Given the description of an element on the screen output the (x, y) to click on. 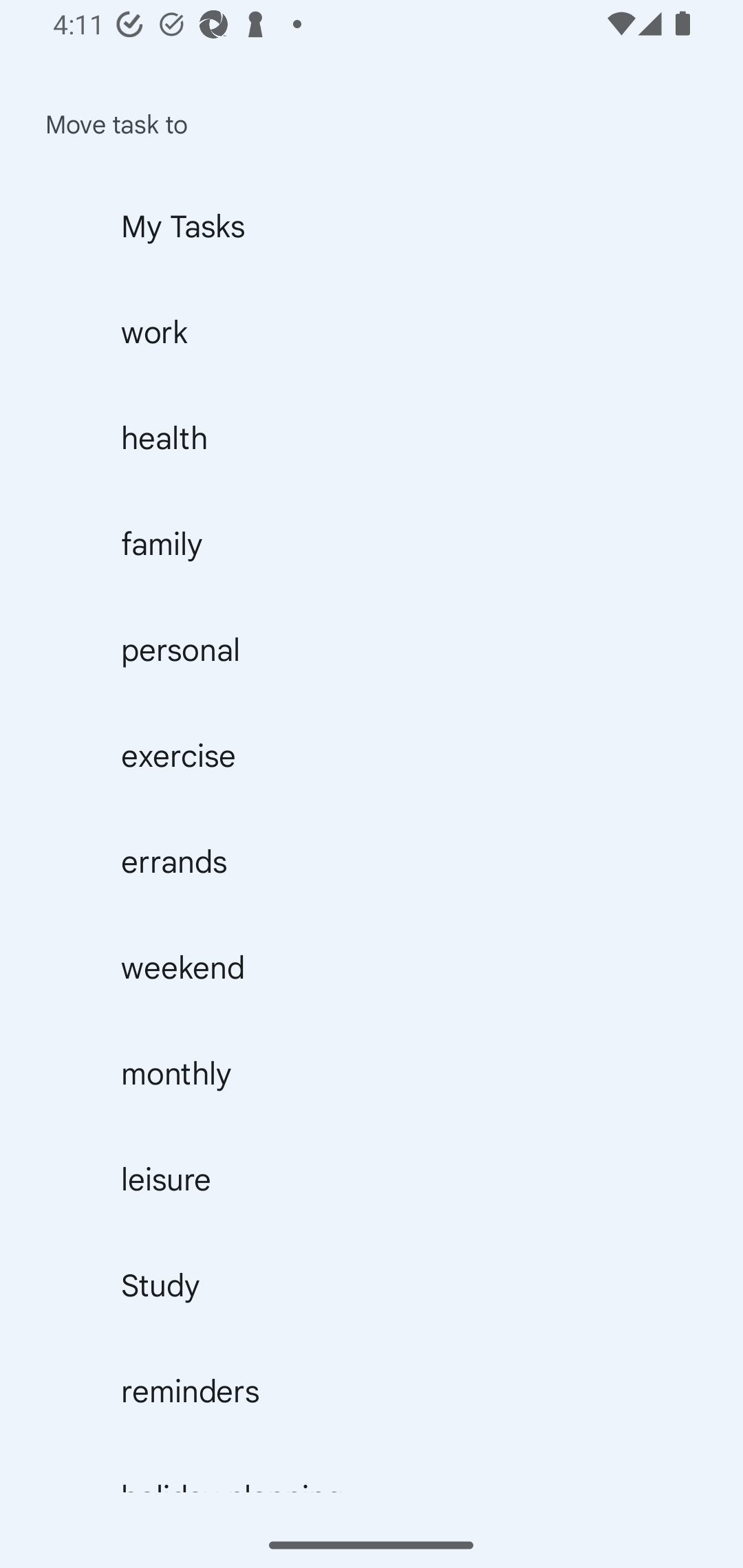
My Tasks (371, 226)
work (371, 332)
health (371, 437)
family (371, 543)
personal (371, 649)
exercise (371, 755)
errands (371, 861)
weekend (371, 967)
monthly (371, 1072)
leisure (371, 1178)
Study (371, 1285)
reminders (371, 1391)
